Given the description of an element on the screen output the (x, y) to click on. 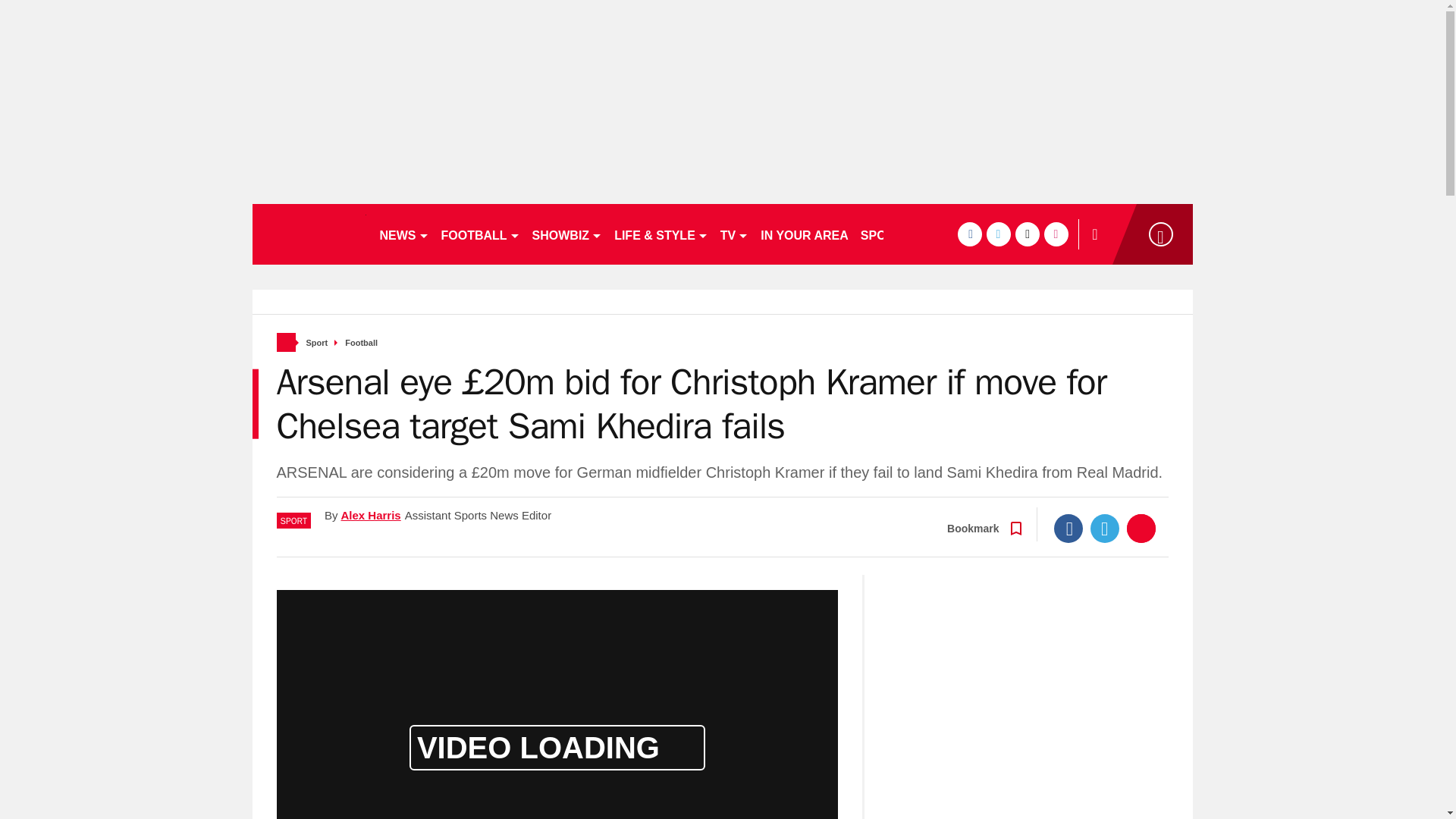
dailystar (308, 233)
Facebook (1068, 528)
FOOTBALL (480, 233)
Twitter (1104, 528)
twitter (997, 233)
NEWS (402, 233)
instagram (1055, 233)
tiktok (1026, 233)
SHOWBIZ (566, 233)
facebook (968, 233)
